Given the description of an element on the screen output the (x, y) to click on. 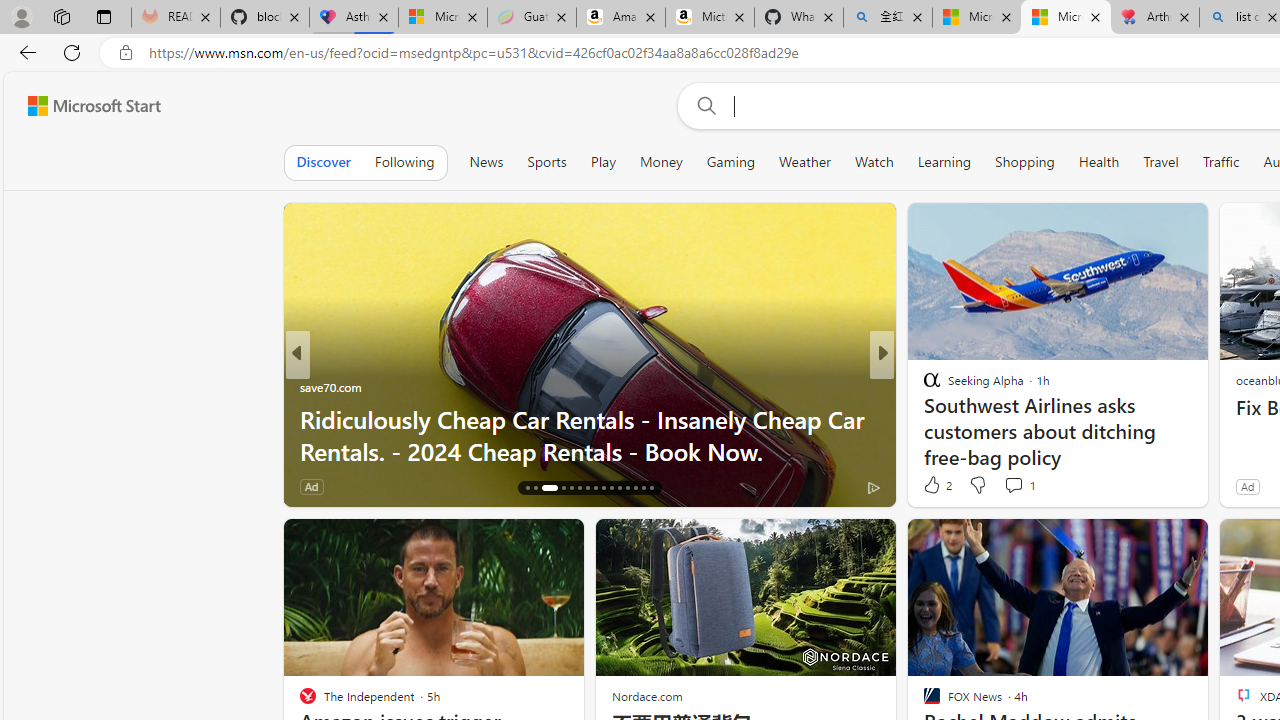
Traffic (1220, 162)
AutomationID: tab-24 (603, 487)
CNN (923, 386)
Sports (546, 161)
20 Like (934, 486)
Shopping (1025, 162)
Travel (1160, 162)
AutomationID: tab-29 (642, 487)
Shopping (1025, 161)
